Given the description of an element on the screen output the (x, y) to click on. 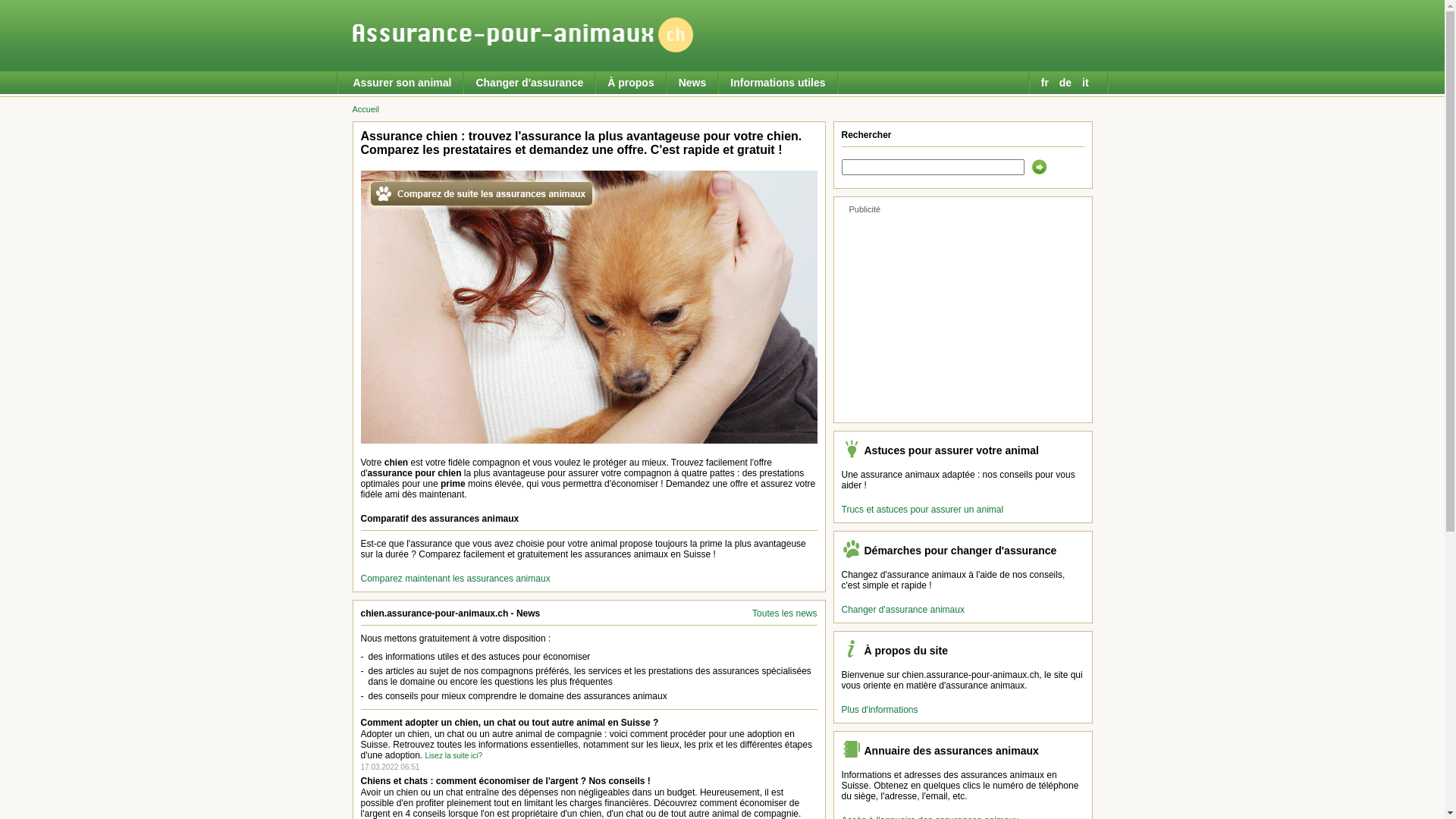
Changer d'assurance animaux Element type: text (902, 609)
News Element type: text (692, 82)
Informations utiles Element type: text (777, 82)
fr  Element type: text (1046, 82)
de  Element type: text (1066, 82)
Trucs et astuces pour assurer un animal Element type: text (922, 509)
Comparez maintenant les assurances animaux Element type: text (455, 578)
Accueil Element type: text (364, 108)
Changer d'assurance Element type: text (529, 82)
Plus d'informations Element type: text (879, 709)
Lisez la suite ici? Element type: text (454, 755)
it  Element type: text (1086, 82)
Assurer son animal Element type: text (402, 82)
Toutes les news Element type: text (784, 613)
